Given the description of an element on the screen output the (x, y) to click on. 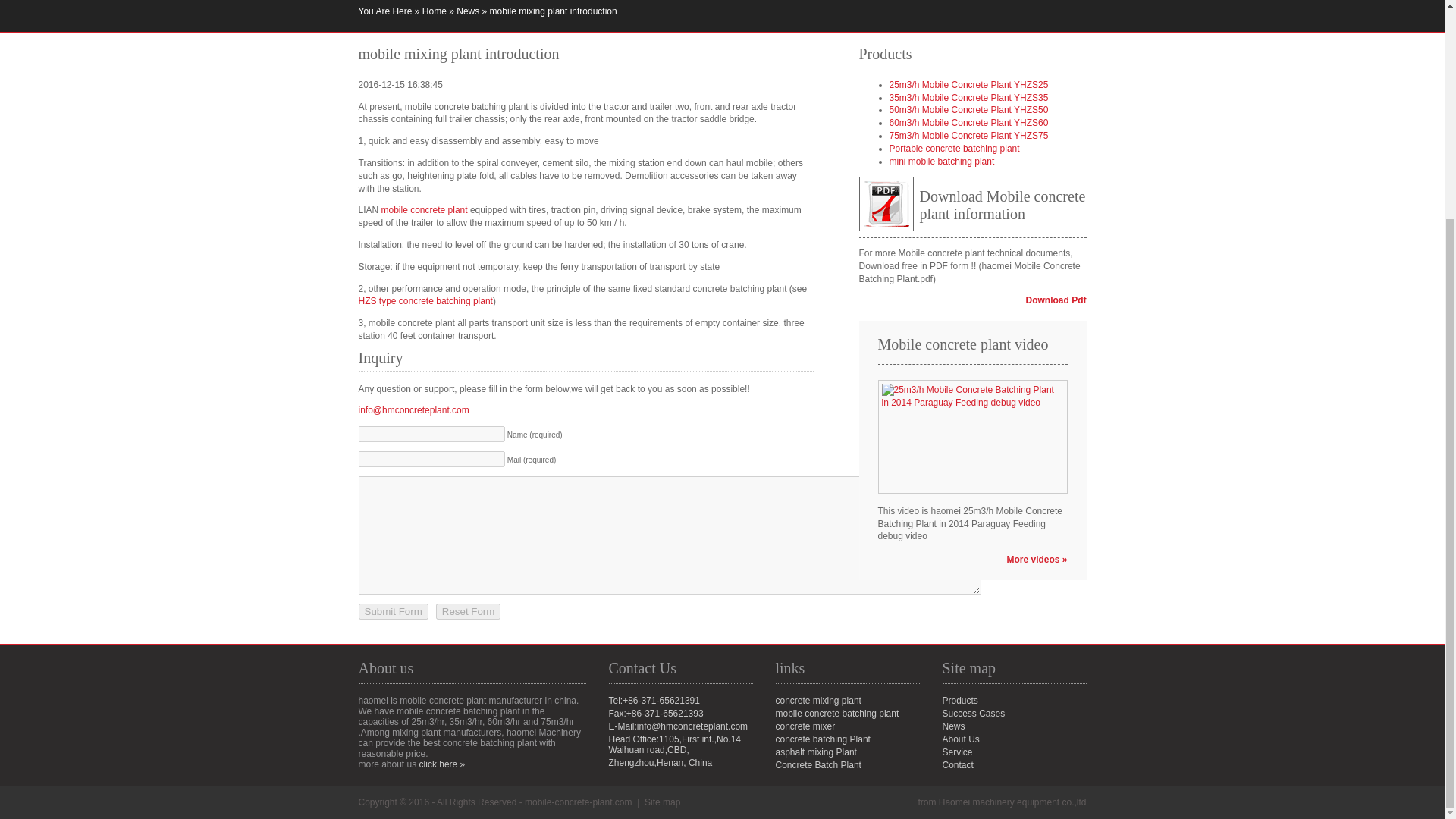
mini mobile batching plant (941, 161)
Submit Form (393, 611)
Home (434, 10)
YHZS25 Mobile Concrete Plant (968, 84)
Portable concrete batching plant (953, 148)
YHZS35 Mobile Concrete Plant (968, 97)
About Us (960, 738)
mini mobile batching plant (941, 161)
Service (957, 751)
Products (959, 700)
News (468, 10)
YHZS60 Mobile Concrete Plant (968, 122)
Portable concrete batching plant (953, 148)
mobile concrete plant (424, 209)
HZS type concrete batching plant (425, 300)
